Given the description of an element on the screen output the (x, y) to click on. 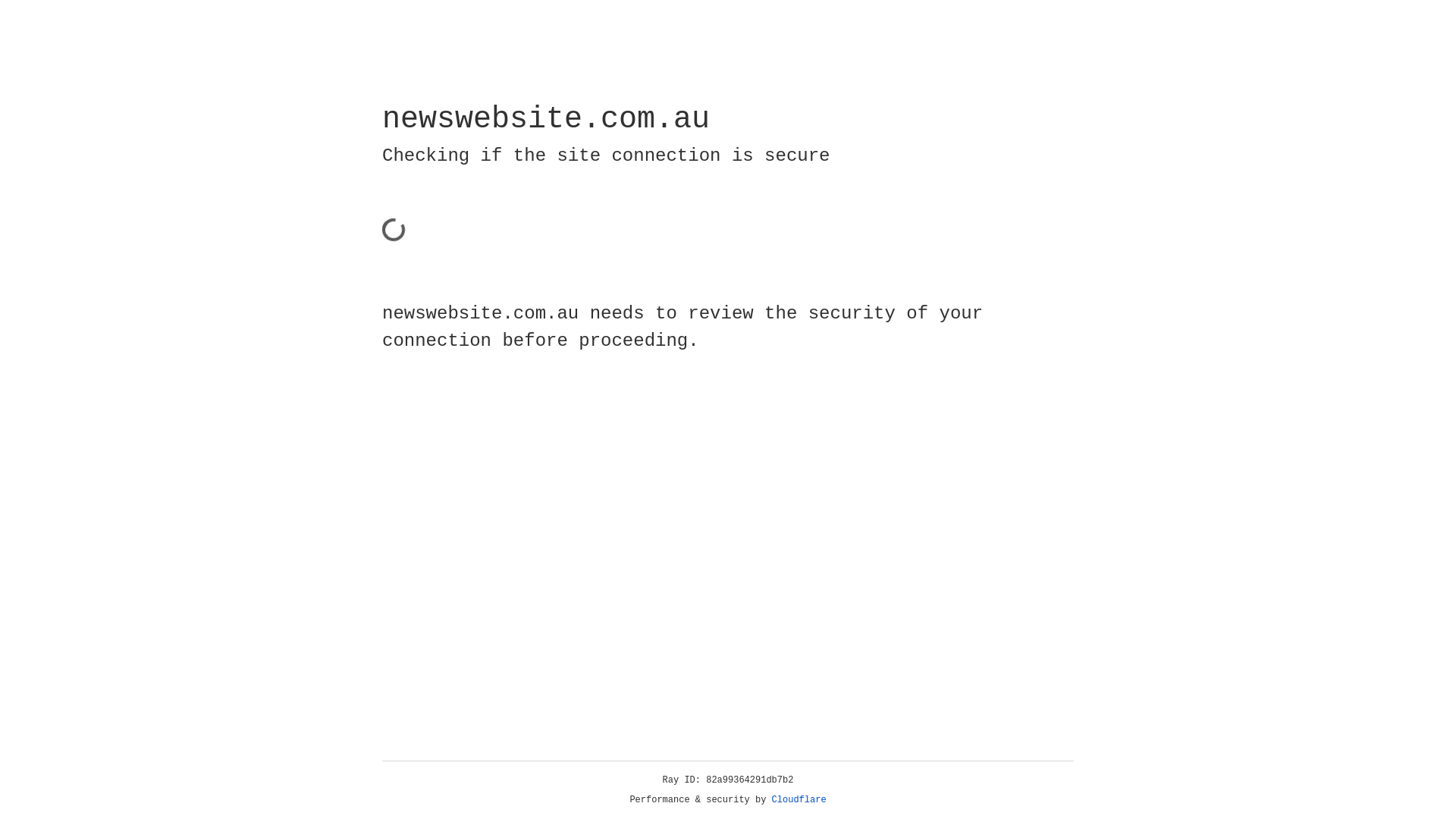
Cloudflare Element type: text (798, 799)
